Given the description of an element on the screen output the (x, y) to click on. 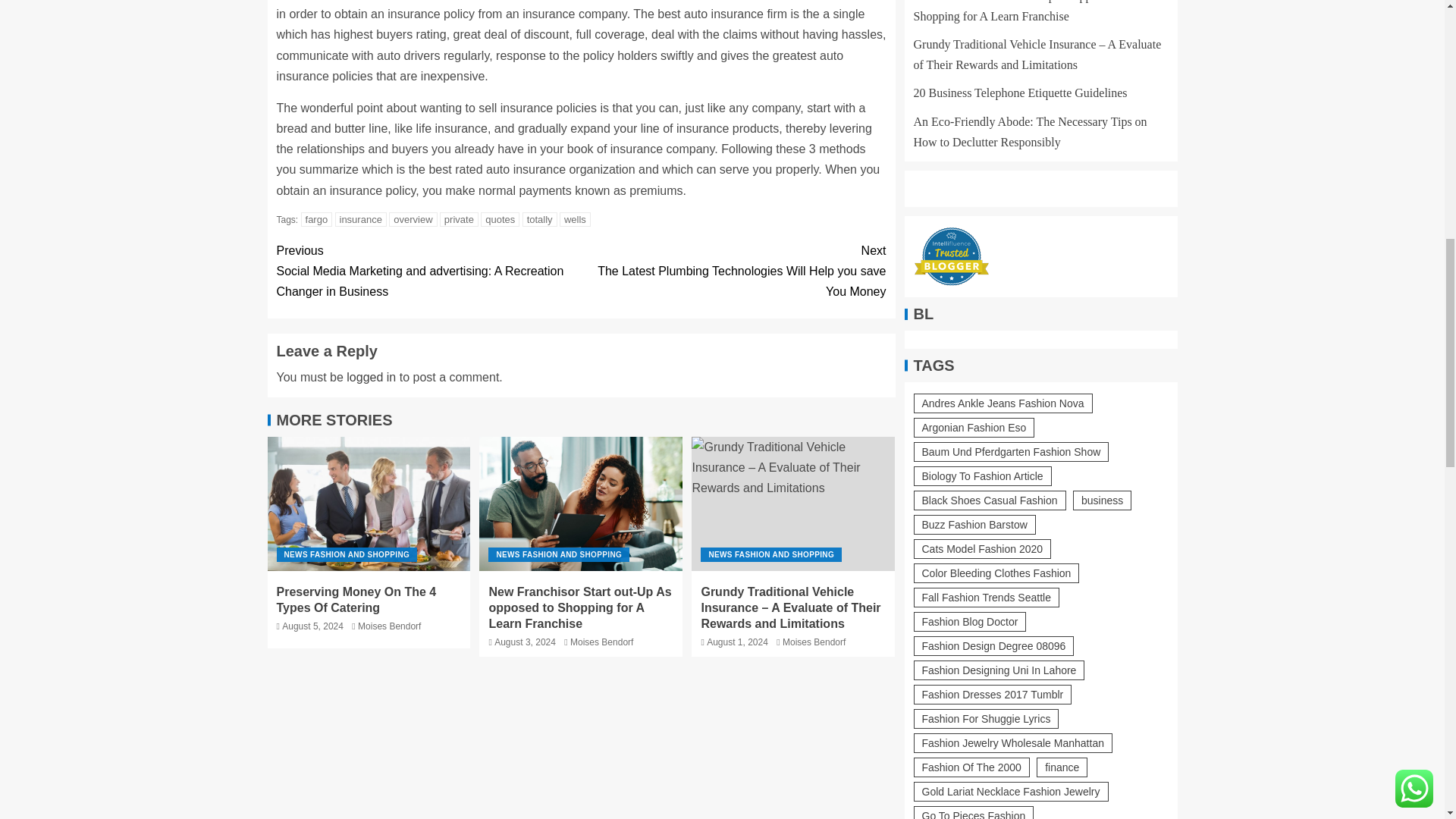
NEWS FASHION AND SHOPPING (346, 554)
insurance (360, 219)
totally (539, 219)
overview (412, 219)
logged in (371, 377)
quotes (499, 219)
Preserving Money On The 4 Types Of Catering (355, 599)
Preserving Money On The 4 Types Of Catering (368, 503)
wells (575, 219)
fargo (317, 219)
Moises Bendorf (389, 625)
private (459, 219)
